Given the description of an element on the screen output the (x, y) to click on. 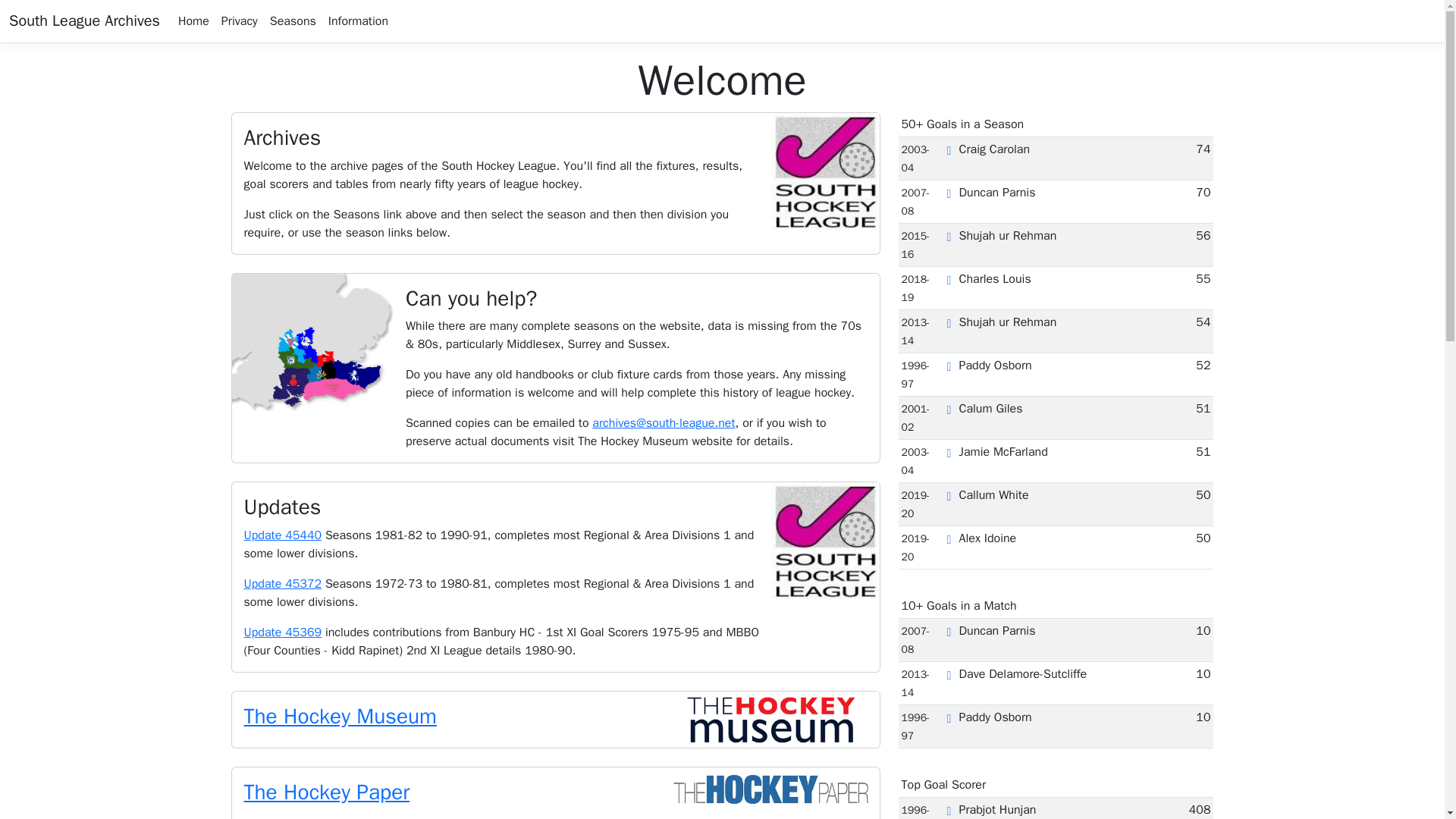
The Hockey Museum (341, 715)
Home (193, 20)
Update 45372 (282, 583)
Update 45440 (282, 534)
Seasons (292, 20)
South League Archives (84, 20)
Privacy (239, 20)
Information (357, 20)
The Hockey Paper (327, 791)
Update 45369 (282, 631)
